Given the description of an element on the screen output the (x, y) to click on. 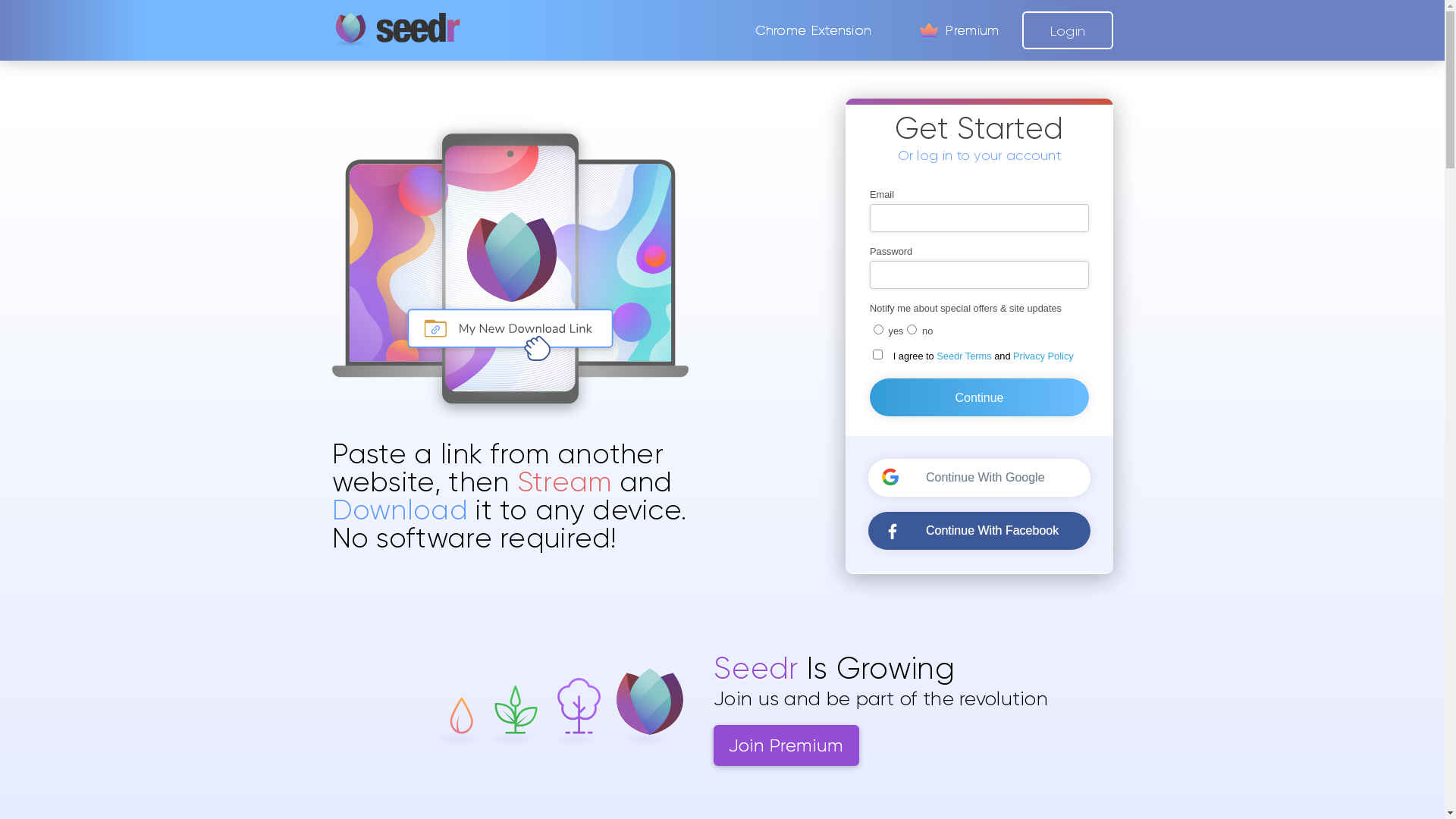
Chrome Extension Element type: text (813, 30)
Premium Element type: text (957, 30)
Join Premium Element type: text (786, 744)
